Given the description of an element on the screen output the (x, y) to click on. 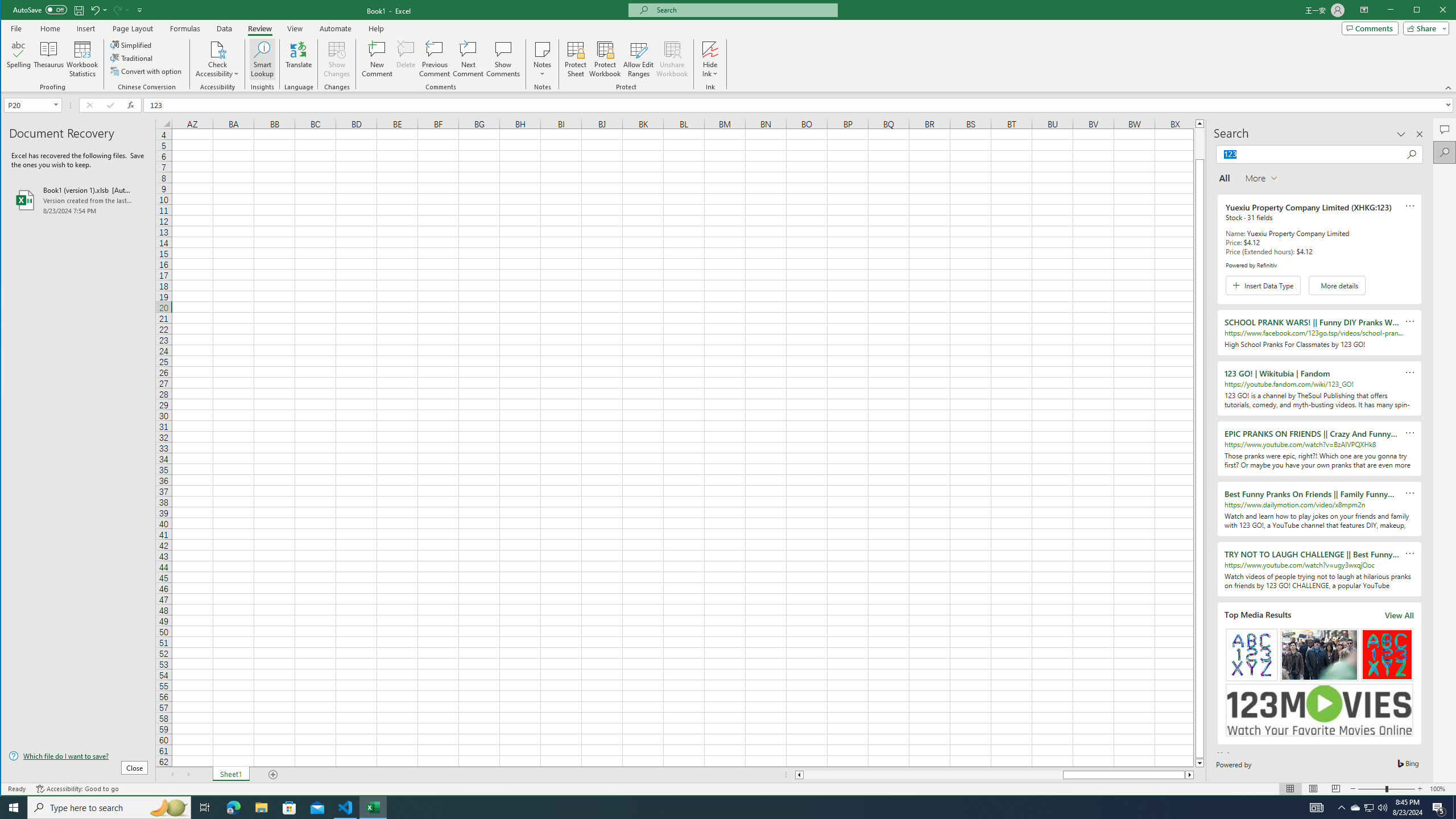
Maximize (1432, 11)
Protect Sheet... (575, 59)
Excel - 1 running window (373, 807)
Delete (405, 59)
